Given the description of an element on the screen output the (x, y) to click on. 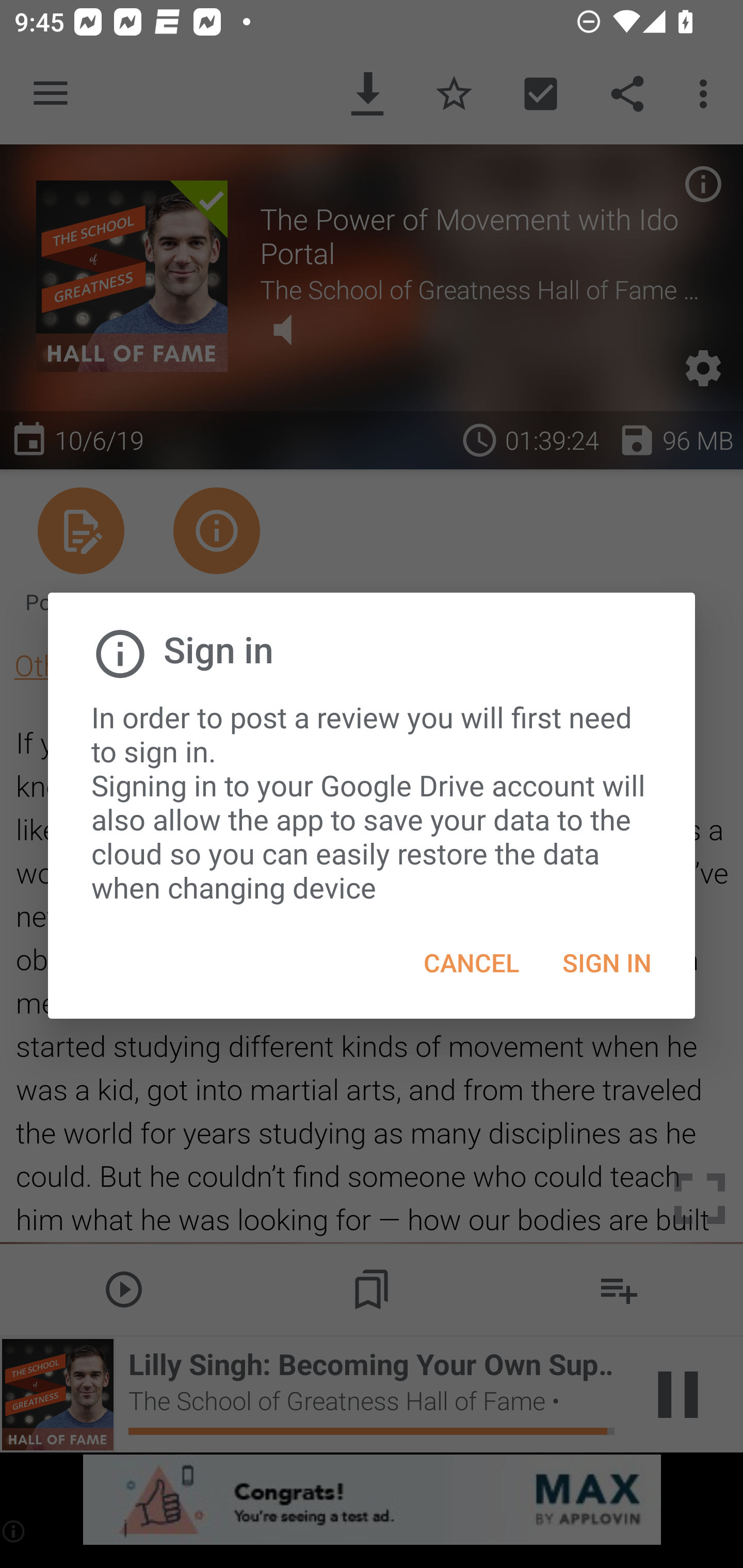
CANCEL (470, 962)
SIGN IN (606, 962)
